Given the description of an element on the screen output the (x, y) to click on. 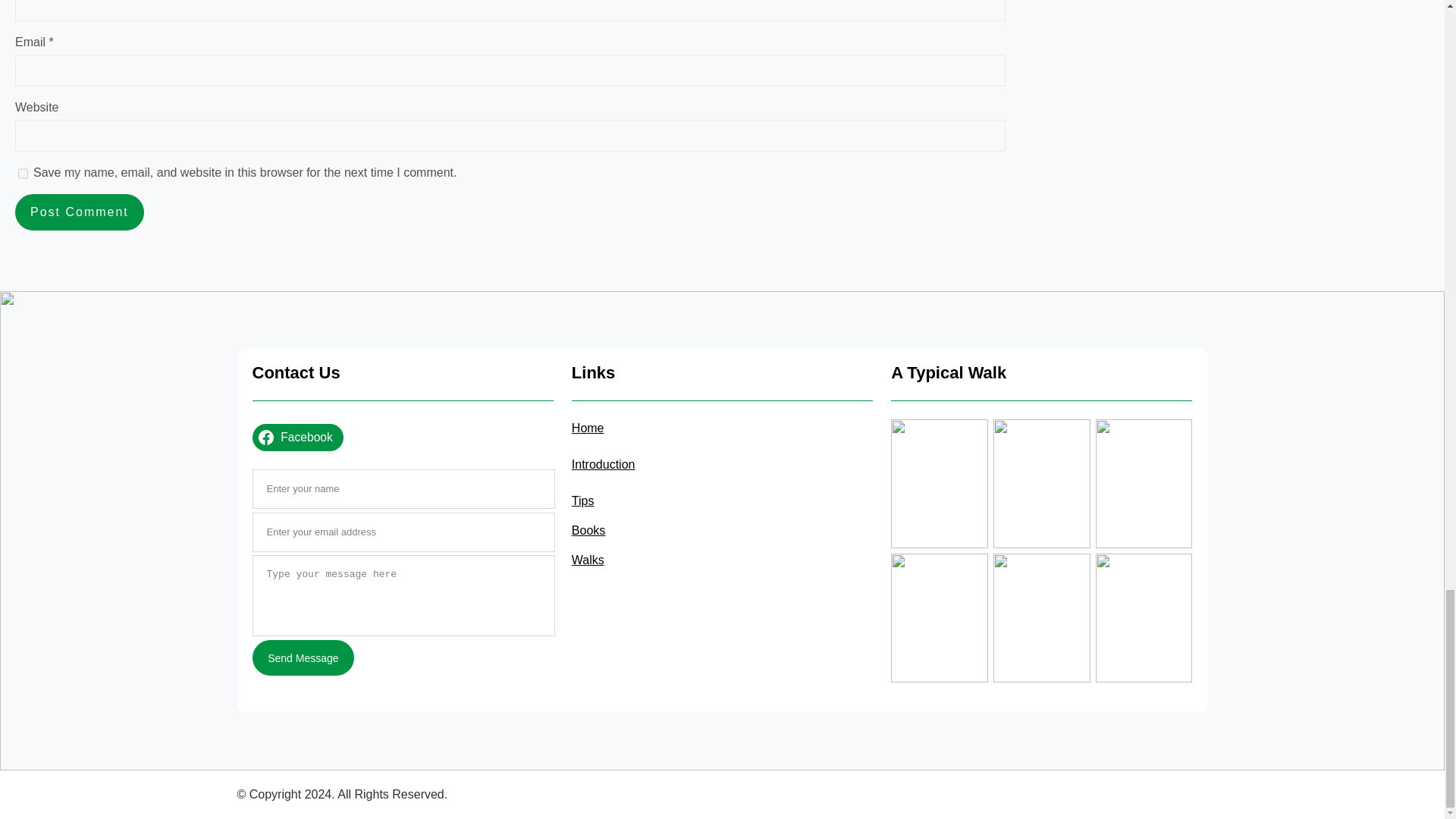
Send Message (302, 657)
Post Comment (79, 212)
Tips (583, 500)
Books (588, 530)
Post Comment (79, 212)
Facebook (296, 437)
Home (588, 427)
Walks (588, 559)
Introduction (603, 463)
